Given the description of an element on the screen output the (x, y) to click on. 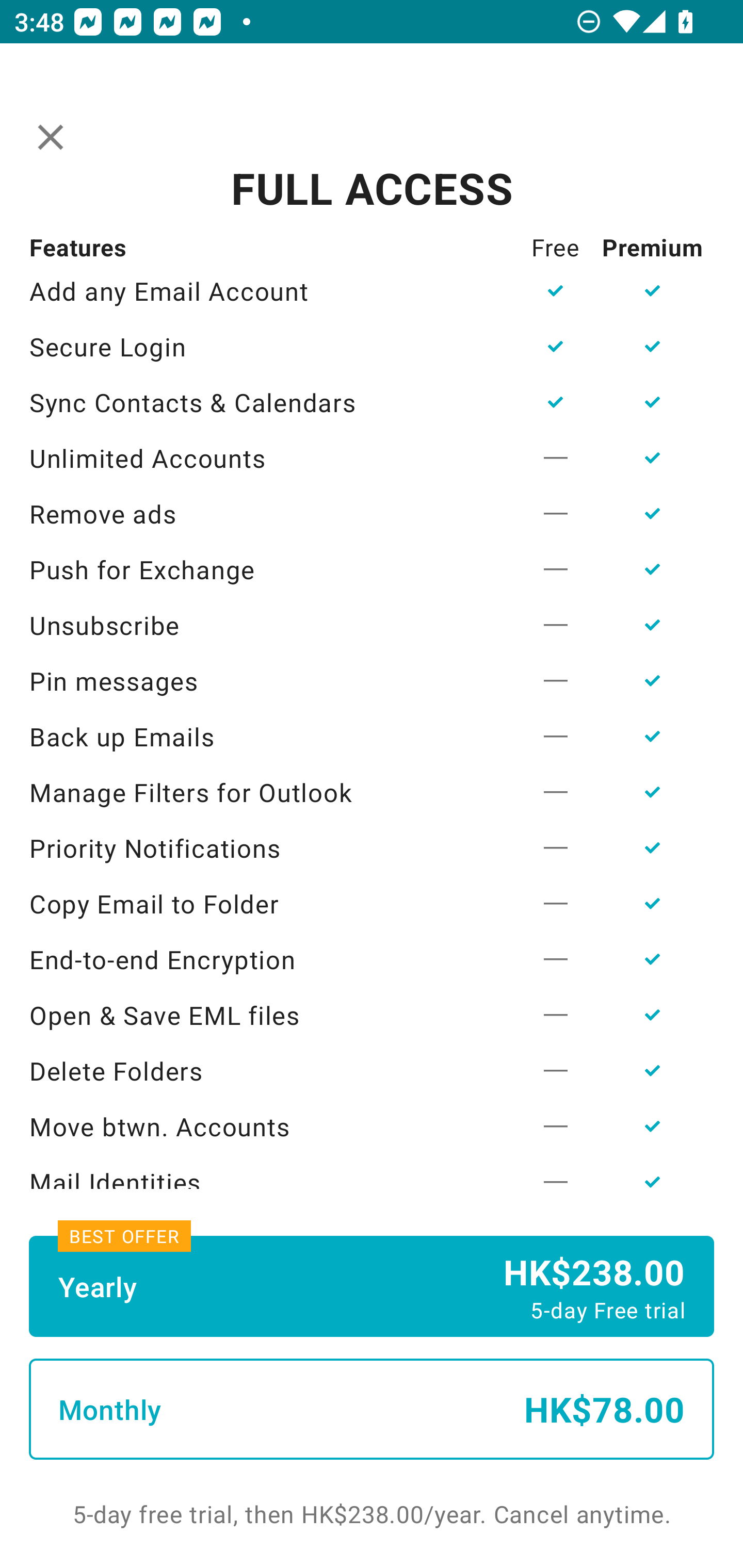
Yearly HK$238.00 5-day Free trial (371, 1286)
Monthly HK$78.00 (371, 1408)
